Given the description of an element on the screen output the (x, y) to click on. 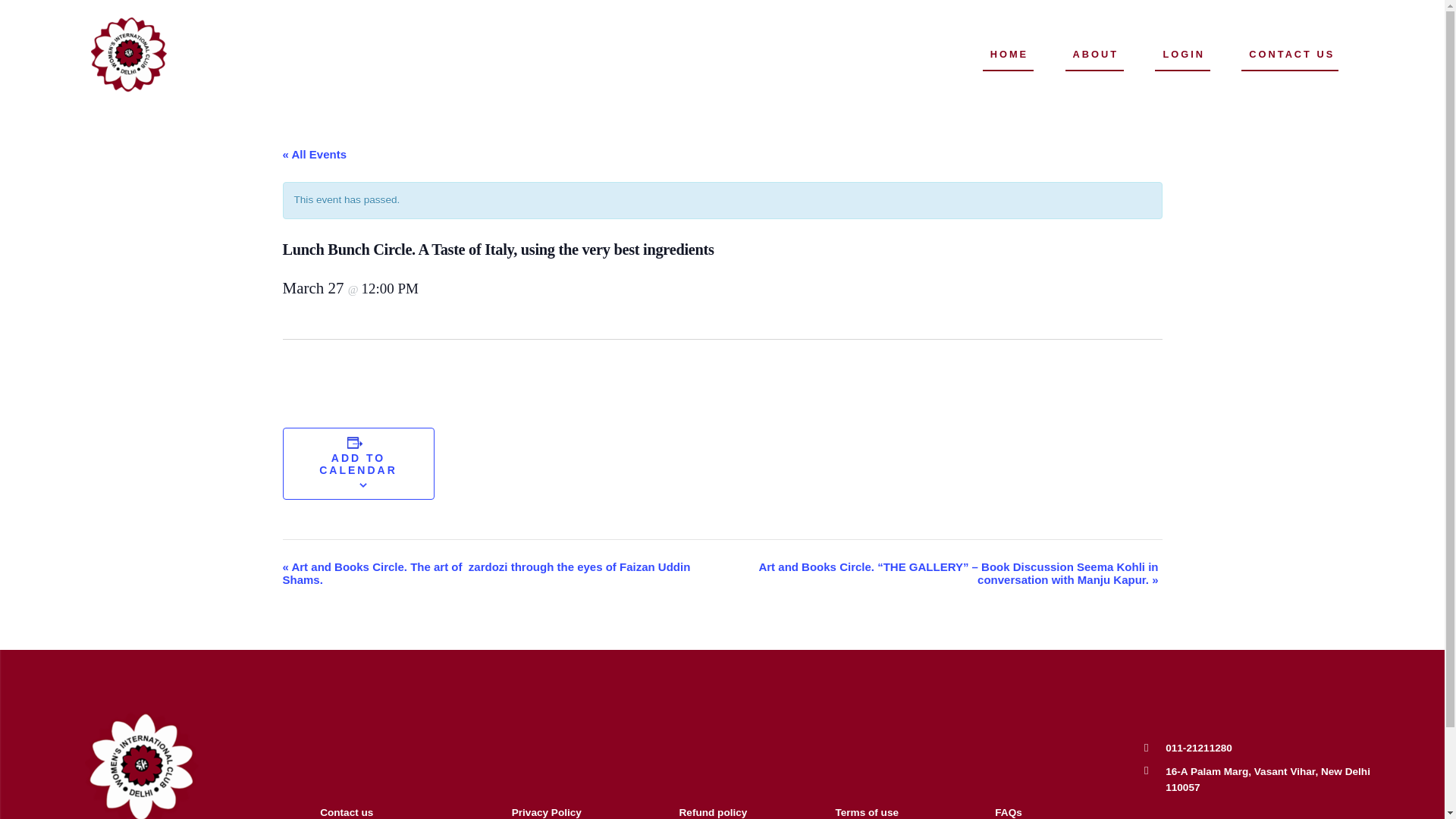
CONTACT US (1291, 54)
ADD TO CALENDAR (358, 463)
HOME (1008, 54)
LOGIN (1183, 54)
ABOUT (1095, 54)
FAQs (1008, 812)
Contact us (346, 812)
Refund policy (713, 812)
Privacy Policy (546, 812)
Terms of use (866, 812)
